Given the description of an element on the screen output the (x, y) to click on. 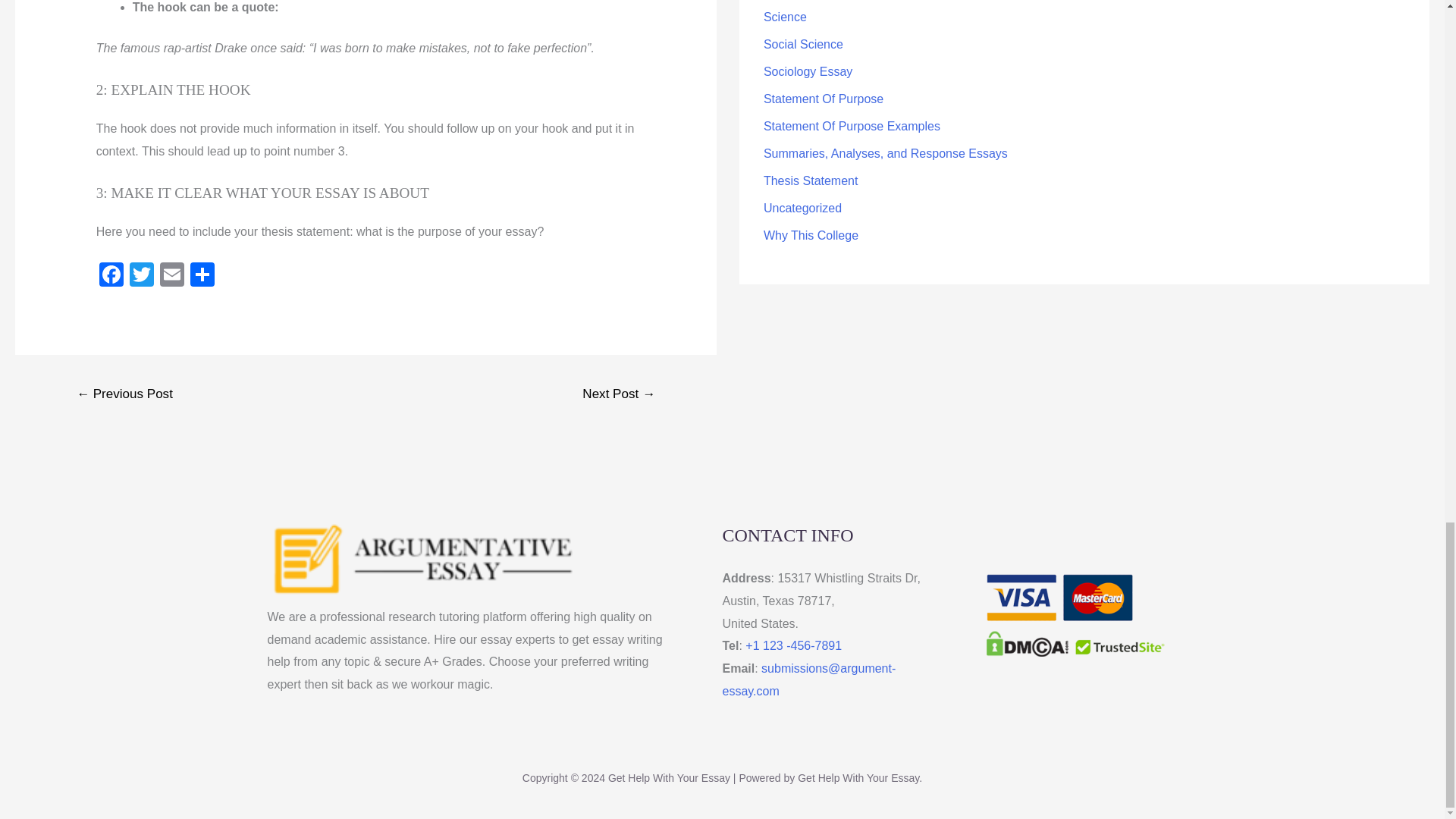
Email (172, 276)
Share (201, 276)
Facebook (111, 276)
Email (172, 276)
Twitter (141, 276)
Facebook (111, 276)
Twitter (141, 276)
